Given the description of an element on the screen output the (x, y) to click on. 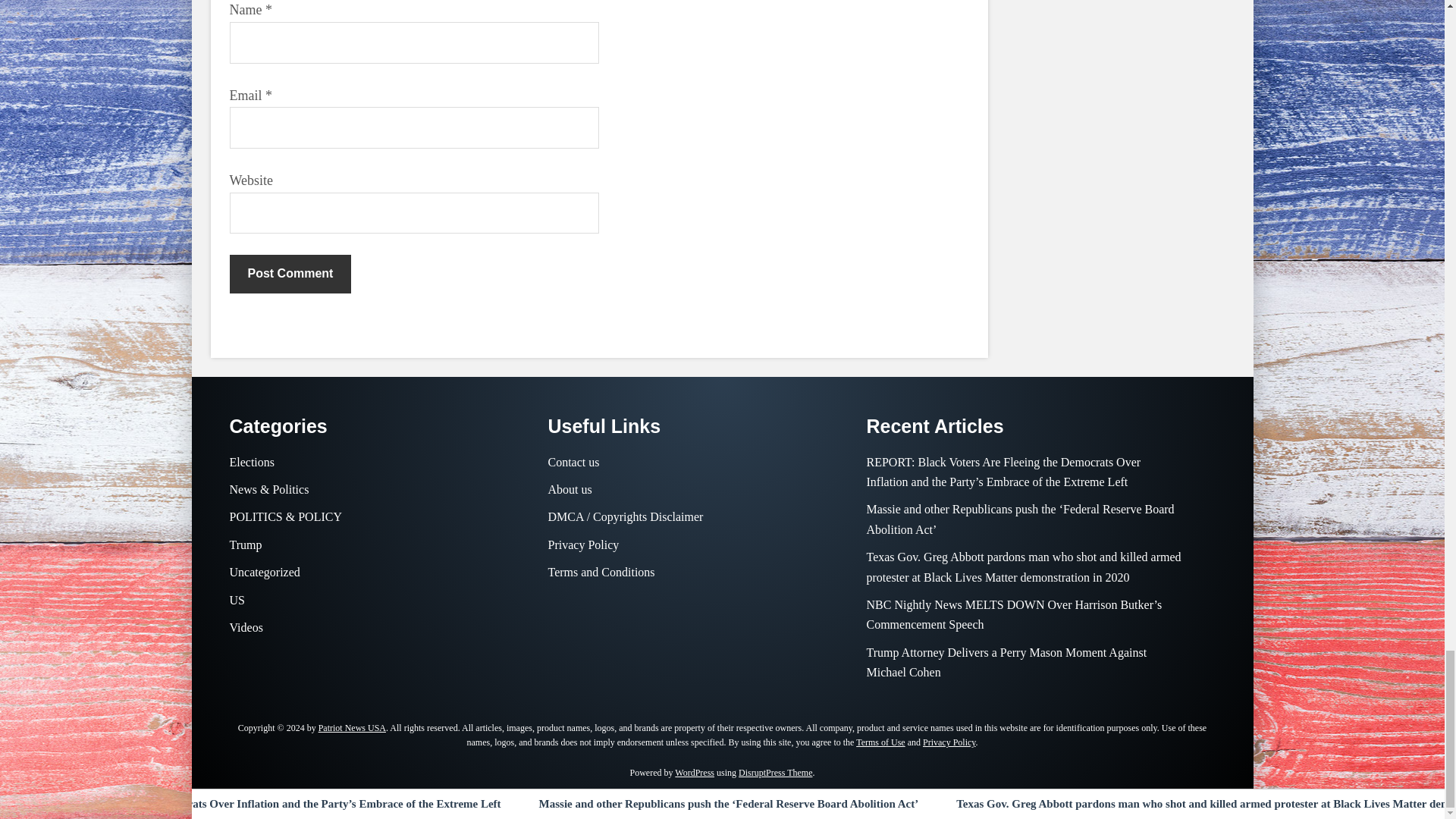
Post Comment (289, 273)
